Given the description of an element on the screen output the (x, y) to click on. 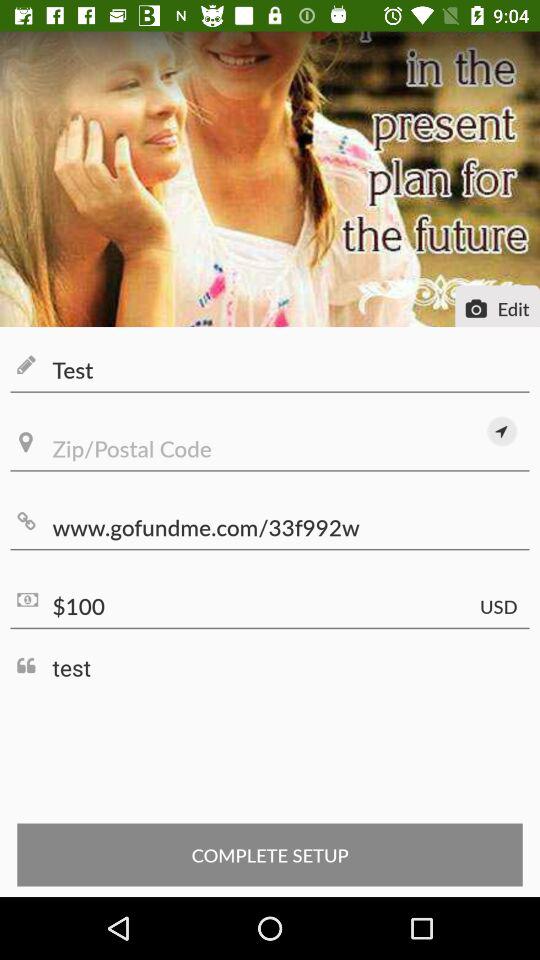
turn off the item above test item (269, 606)
